Given the description of an element on the screen output the (x, y) to click on. 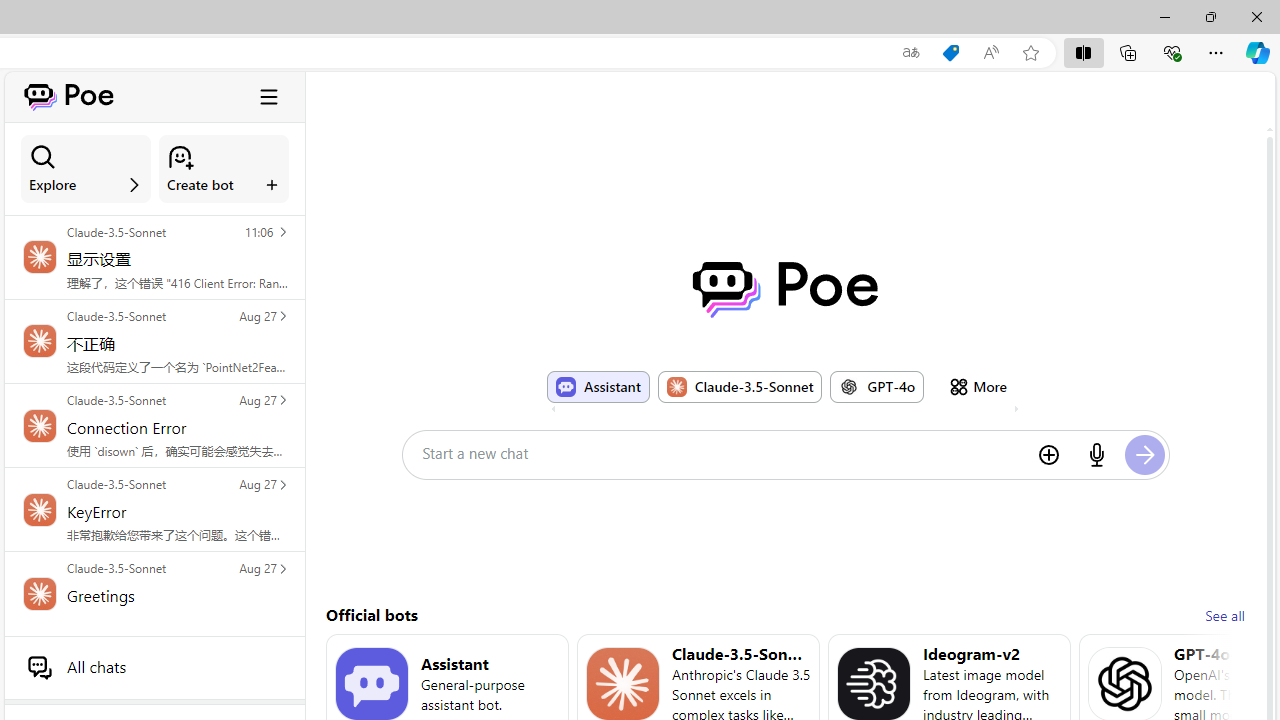
Show translate options (910, 53)
Class: ManageBotsCardSection_createBotIcon__9JUYg (180, 157)
Class: ChatHistoryListItem_chevronIcon__zJZSN (282, 568)
See all (1224, 615)
Bot image for Claude-3.5-Sonnet (623, 683)
Bot image for GPT-4o (849, 385)
All chats (154, 667)
Poe (785, 289)
